Given the description of an element on the screen output the (x, y) to click on. 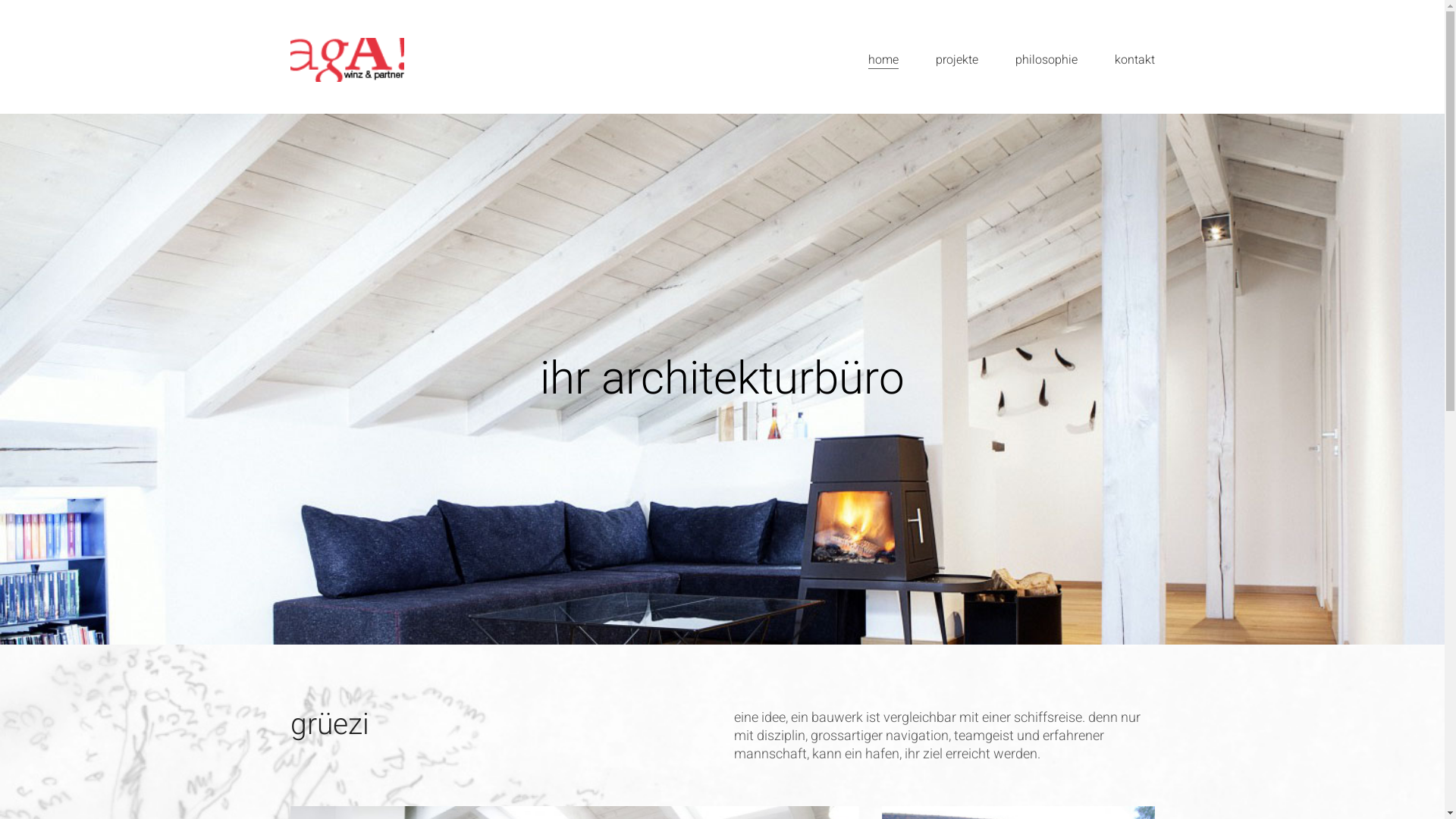
kontakt Element type: text (1134, 60)
projekte Element type: text (956, 60)
philosophie Element type: text (1045, 60)
home Element type: text (882, 60)
